Given the description of an element on the screen output the (x, y) to click on. 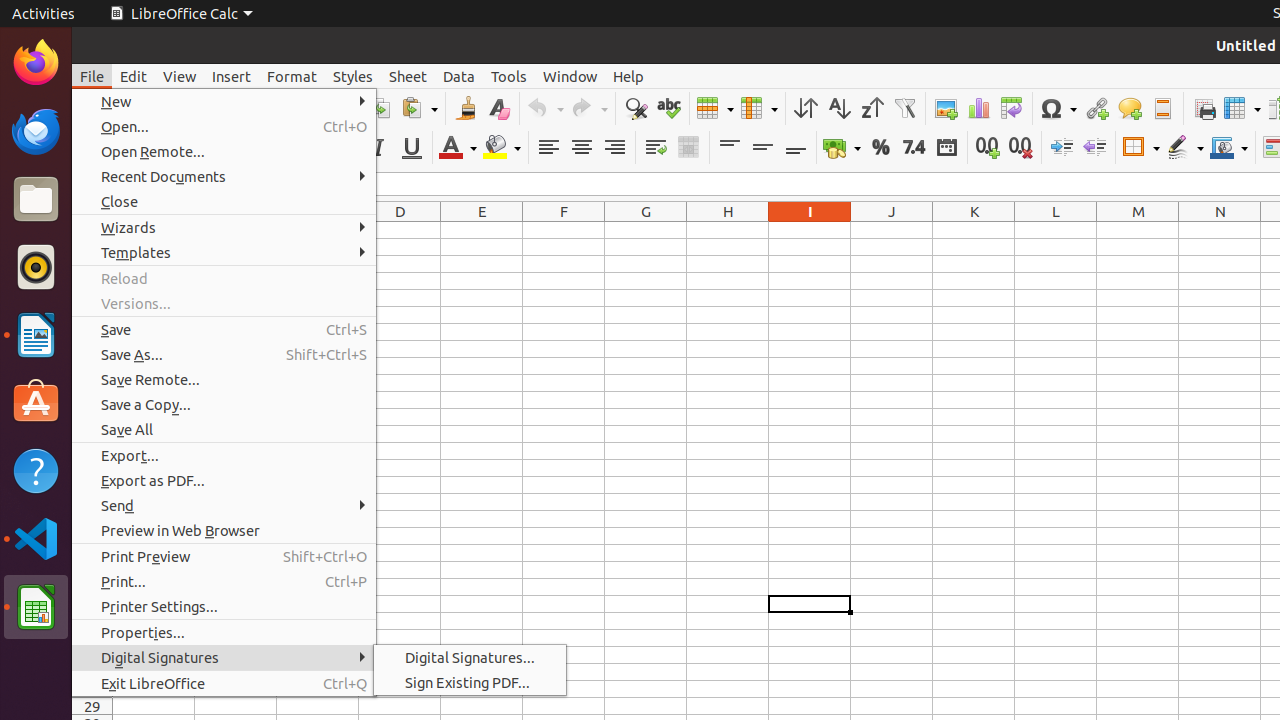
Save Element type: menu-item (224, 329)
Find & Replace Element type: toggle-button (635, 108)
Digital Signatures... Element type: menu-item (470, 657)
Save As... Element type: menu-item (224, 354)
Open... Element type: menu-item (224, 126)
